Given the description of an element on the screen output the (x, y) to click on. 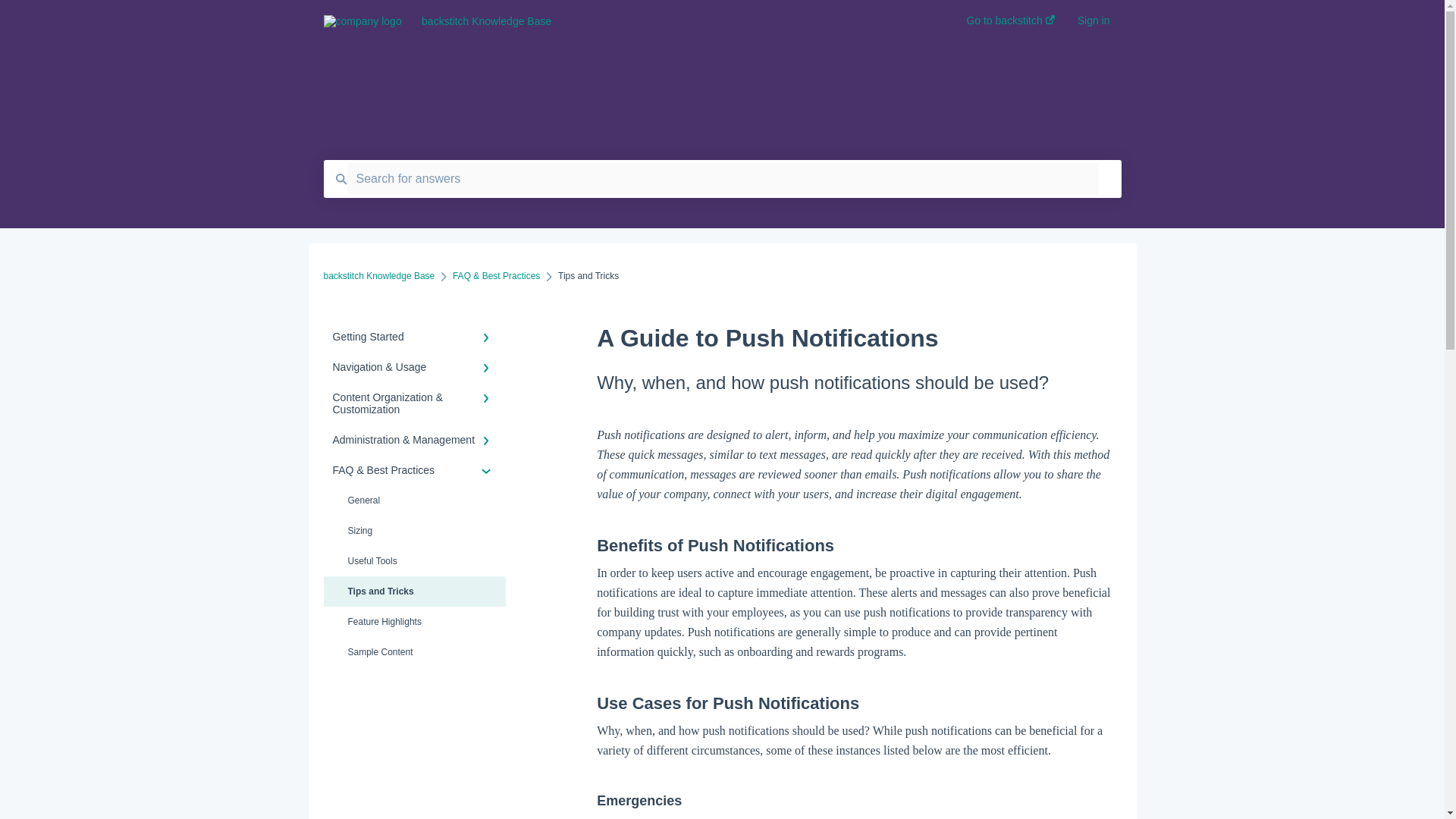
Getting Started (414, 336)
backstitch Knowledge Base (671, 21)
backstitch Knowledge Base (378, 276)
Go to backstitch (1010, 25)
